Given the description of an element on the screen output the (x, y) to click on. 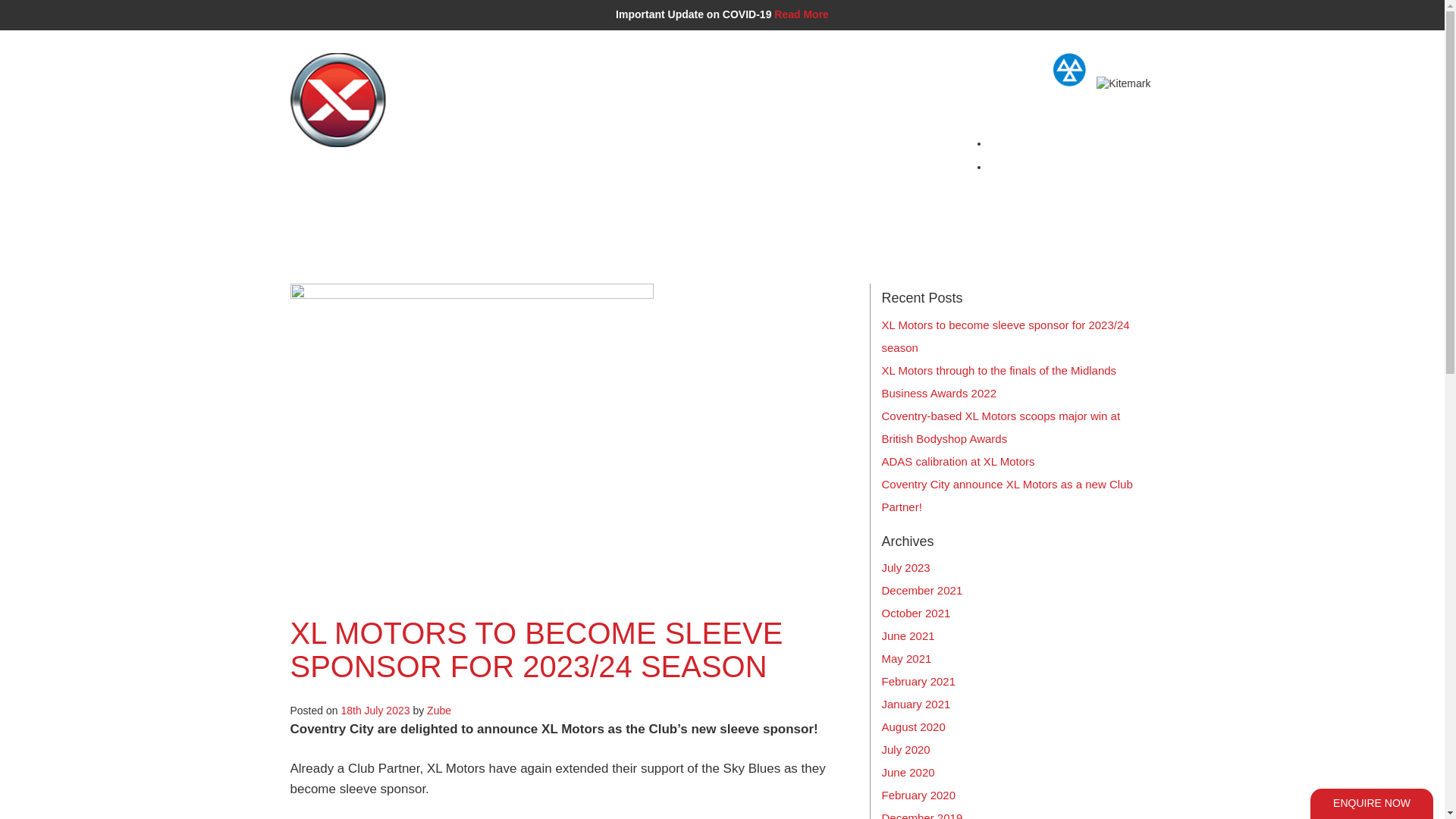
ADAS calibration at XL Motors (956, 461)
Read More (801, 14)
May 2021 (905, 658)
June 2021 (907, 635)
BSI KITEMARK (683, 212)
BRAND APPROVAL (574, 212)
PREMIUM QUALITY REPAIRS (430, 212)
CONTACT US (1079, 212)
February 2021 (917, 680)
August 2020 (912, 726)
